Given the description of an element on the screen output the (x, y) to click on. 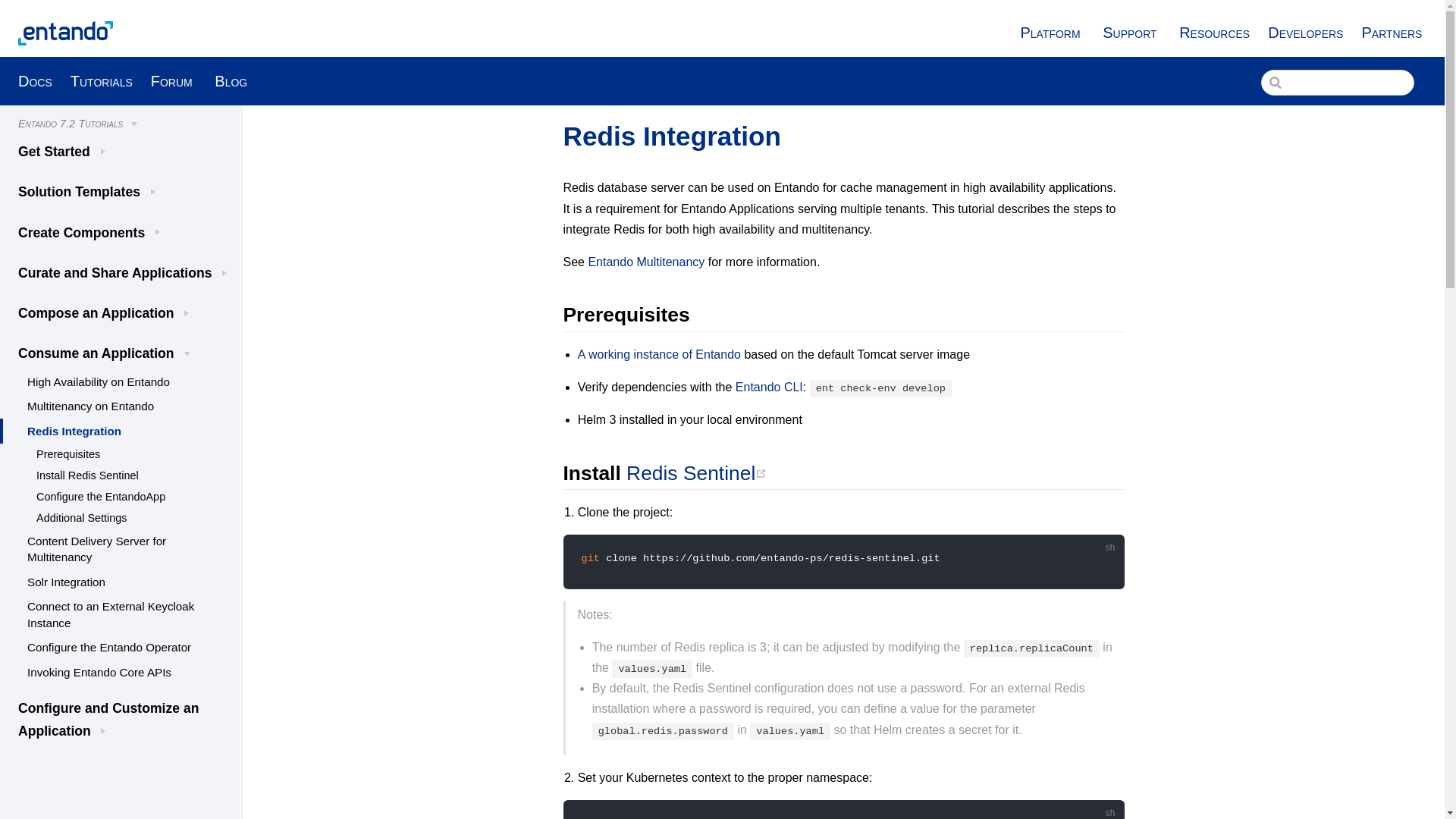
Docs (34, 80)
Blog (230, 80)
Resources (1214, 32)
Tutorials (100, 80)
Developers (1305, 32)
